Given the description of an element on the screen output the (x, y) to click on. 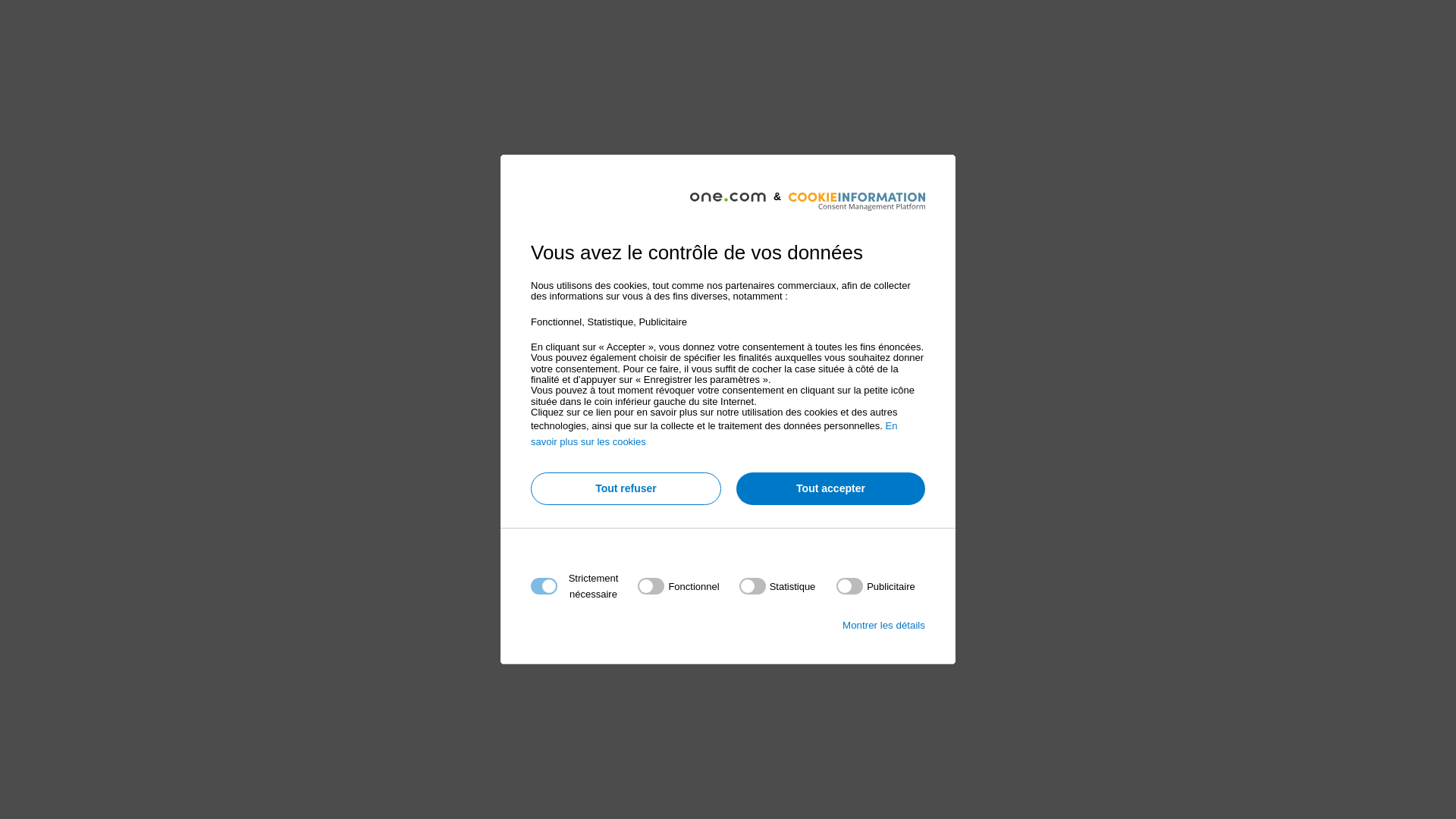
on Element type: text (677, 586)
Fonctionnel Element type: text (723, 769)
Tout accepter Element type: text (830, 488)
on Element type: text (875, 586)
Tout refuser Element type: text (625, 488)
on Element type: text (777, 586)
En savoir plus sur les cookies Element type: text (713, 433)
